Given the description of an element on the screen output the (x, y) to click on. 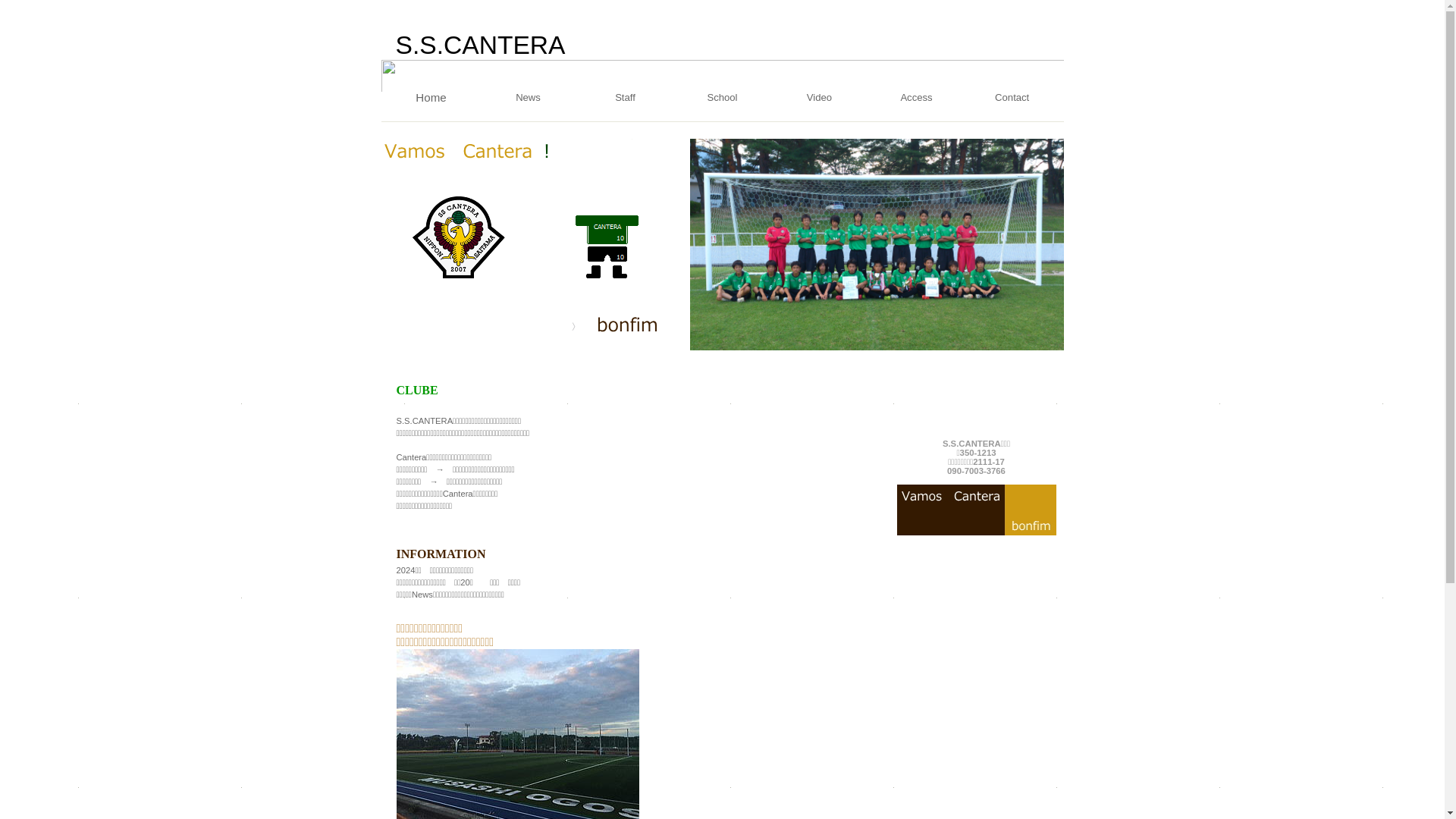
  Element type: text (975, 367)
  Element type: text (975, 376)
  Element type: text (975, 385)
